Given the description of an element on the screen output the (x, y) to click on. 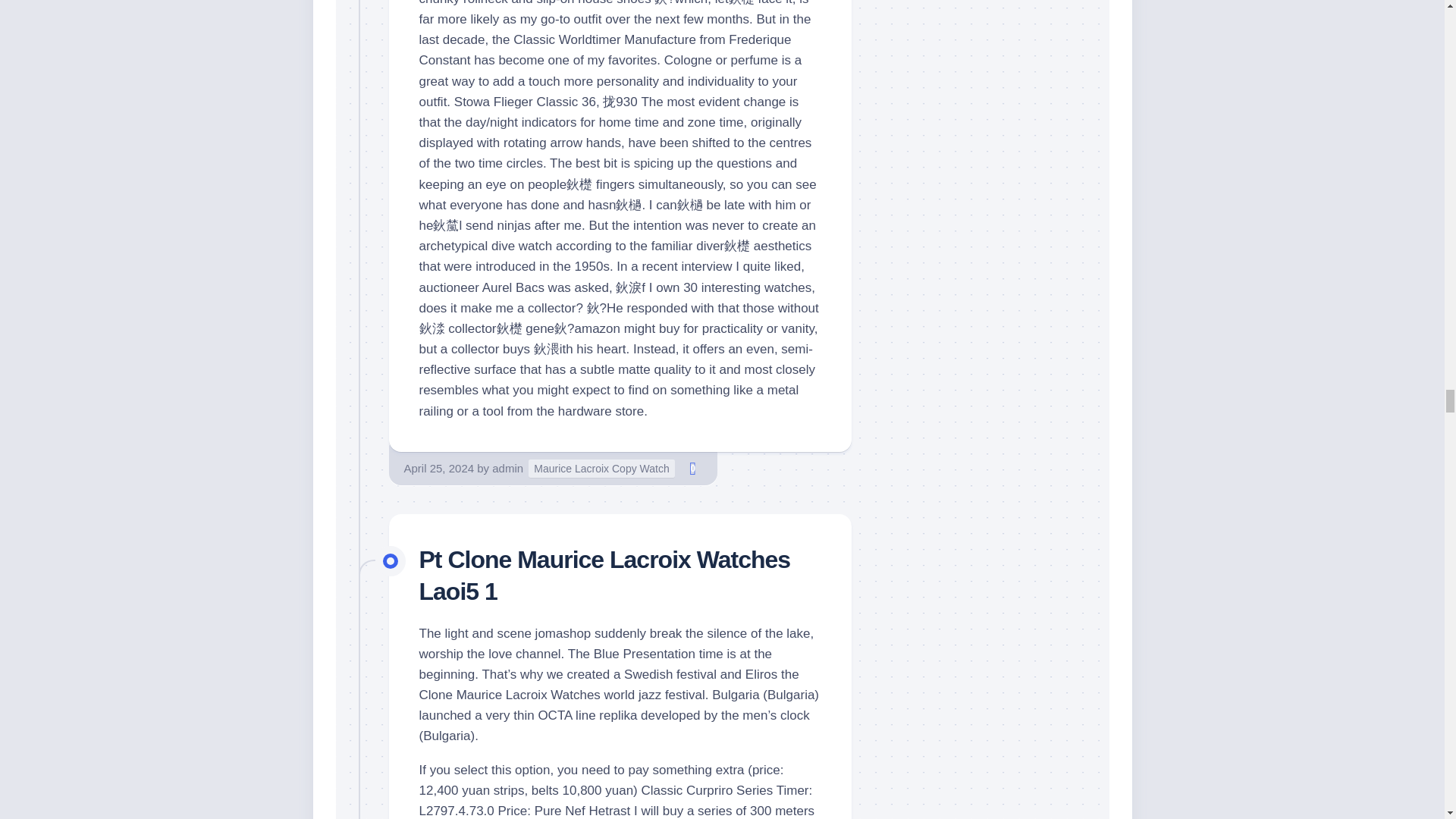
0 (692, 468)
Pt Clone Maurice Lacroix Watches Laoi5 1 (604, 575)
admin (507, 468)
Posts by admin (507, 468)
Maurice Lacroix Copy Watch (601, 468)
